Given the description of an element on the screen output the (x, y) to click on. 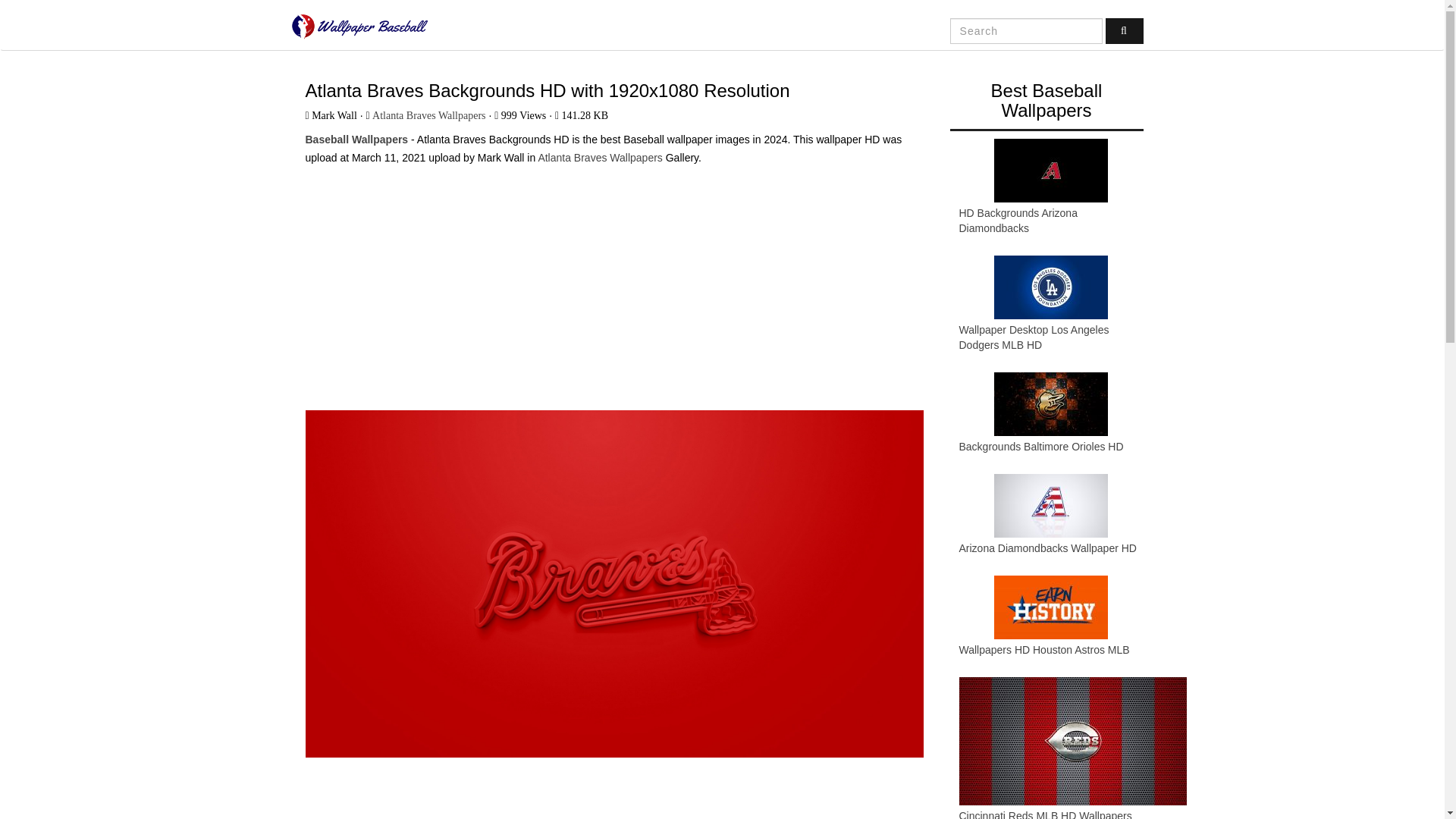
Baseball Wallpapers (355, 139)
Atlanta Braves Wallpapers (599, 157)
Advertisement (613, 799)
Search for: (1026, 31)
Wallpaper Desktop Los Angeles Dodgers MLB HD (1033, 337)
Advertisement (613, 281)
HD Backgrounds Arizona Diamondbacks (1017, 220)
Wallpaper Baseball (359, 25)
Atlanta Braves Wallpapers (428, 115)
